Given the description of an element on the screen output the (x, y) to click on. 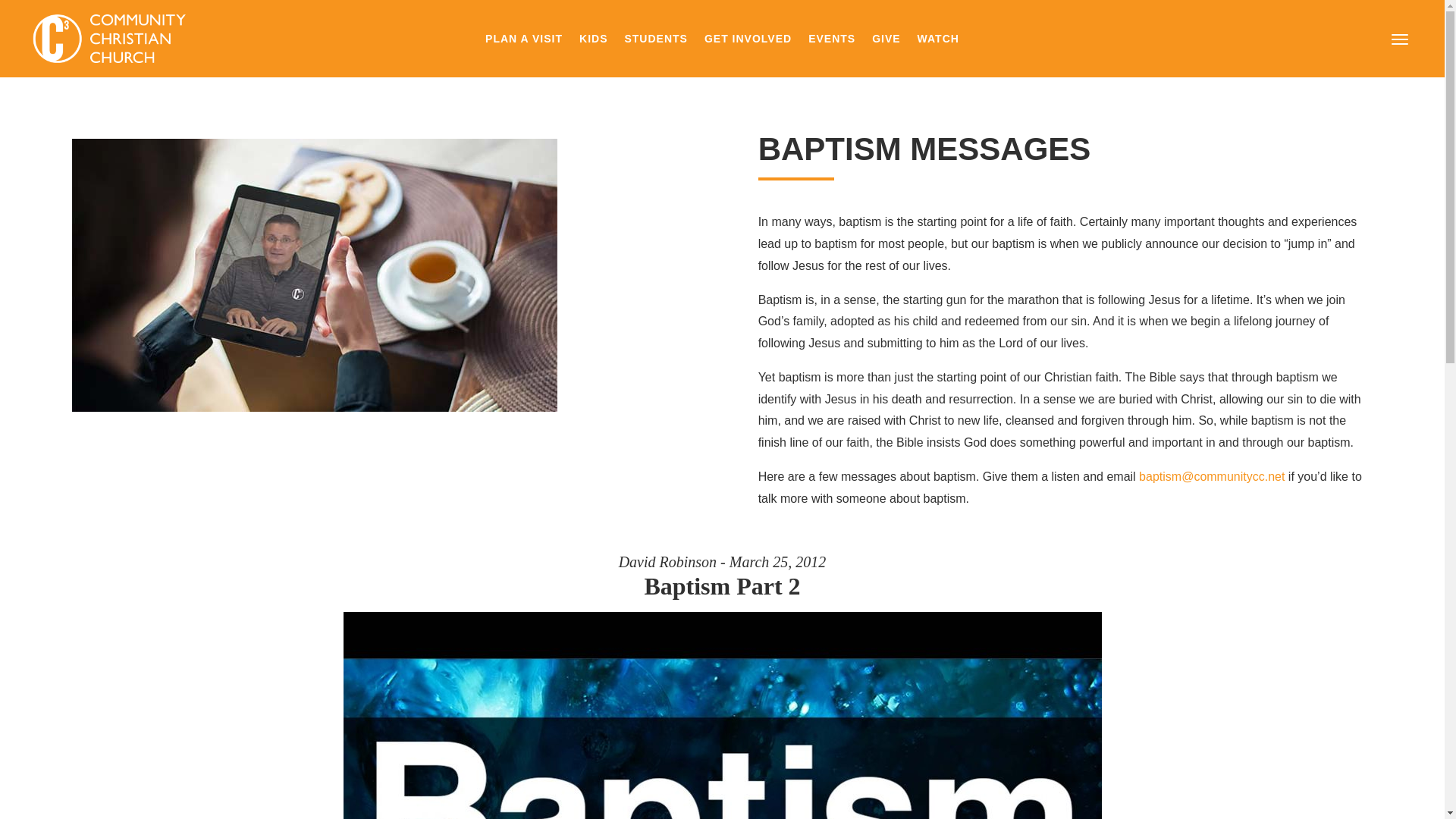
On Demand (314, 274)
C3 Community Christian Church (112, 38)
PLAN A VISIT (523, 41)
EVENTS (832, 41)
GET INVOLVED (748, 41)
GIVE (885, 41)
KIDS (593, 41)
WATCH (938, 41)
STUDENTS (655, 41)
